Given the description of an element on the screen output the (x, y) to click on. 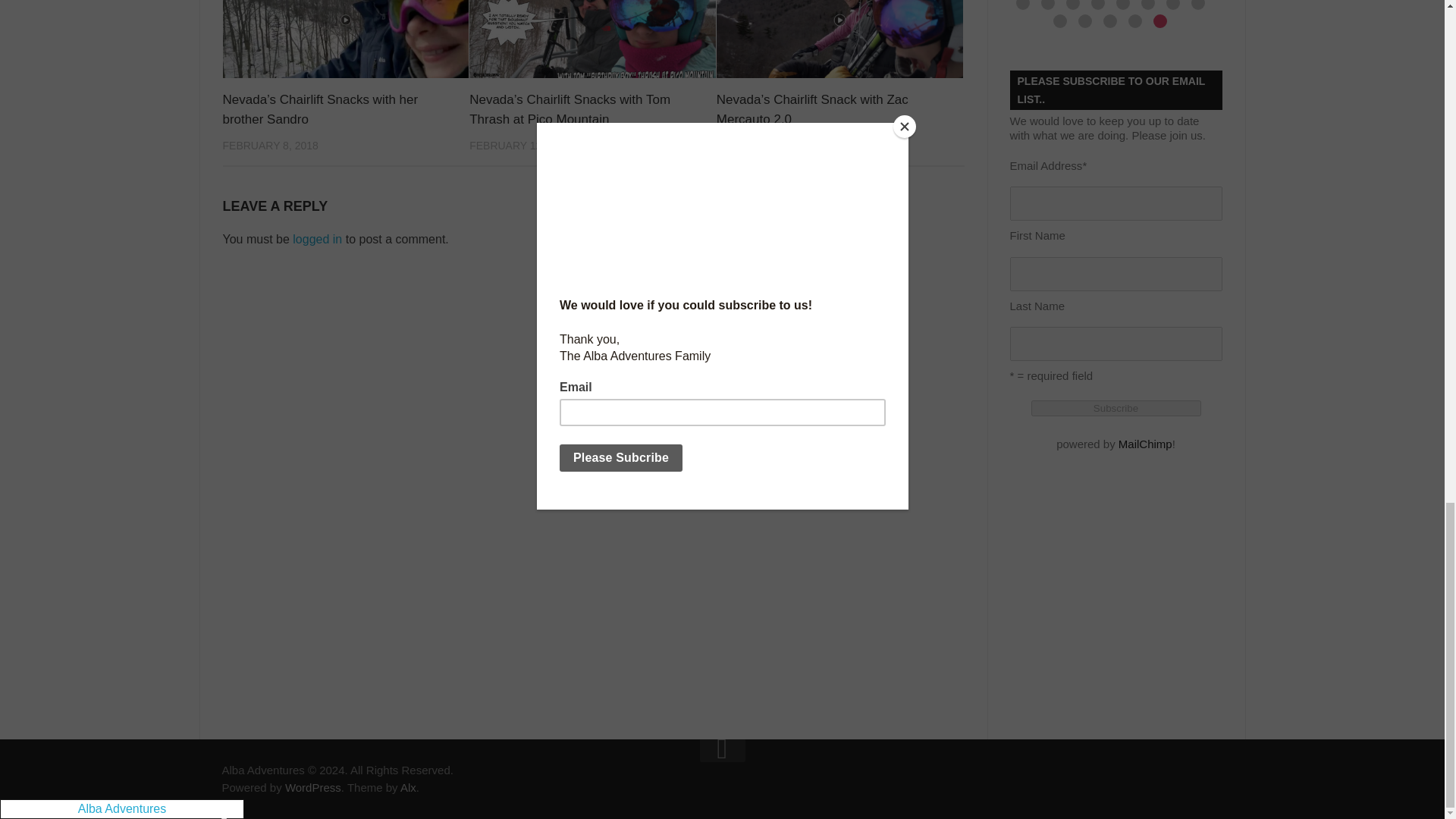
Subscribe (1115, 408)
